Given the description of an element on the screen output the (x, y) to click on. 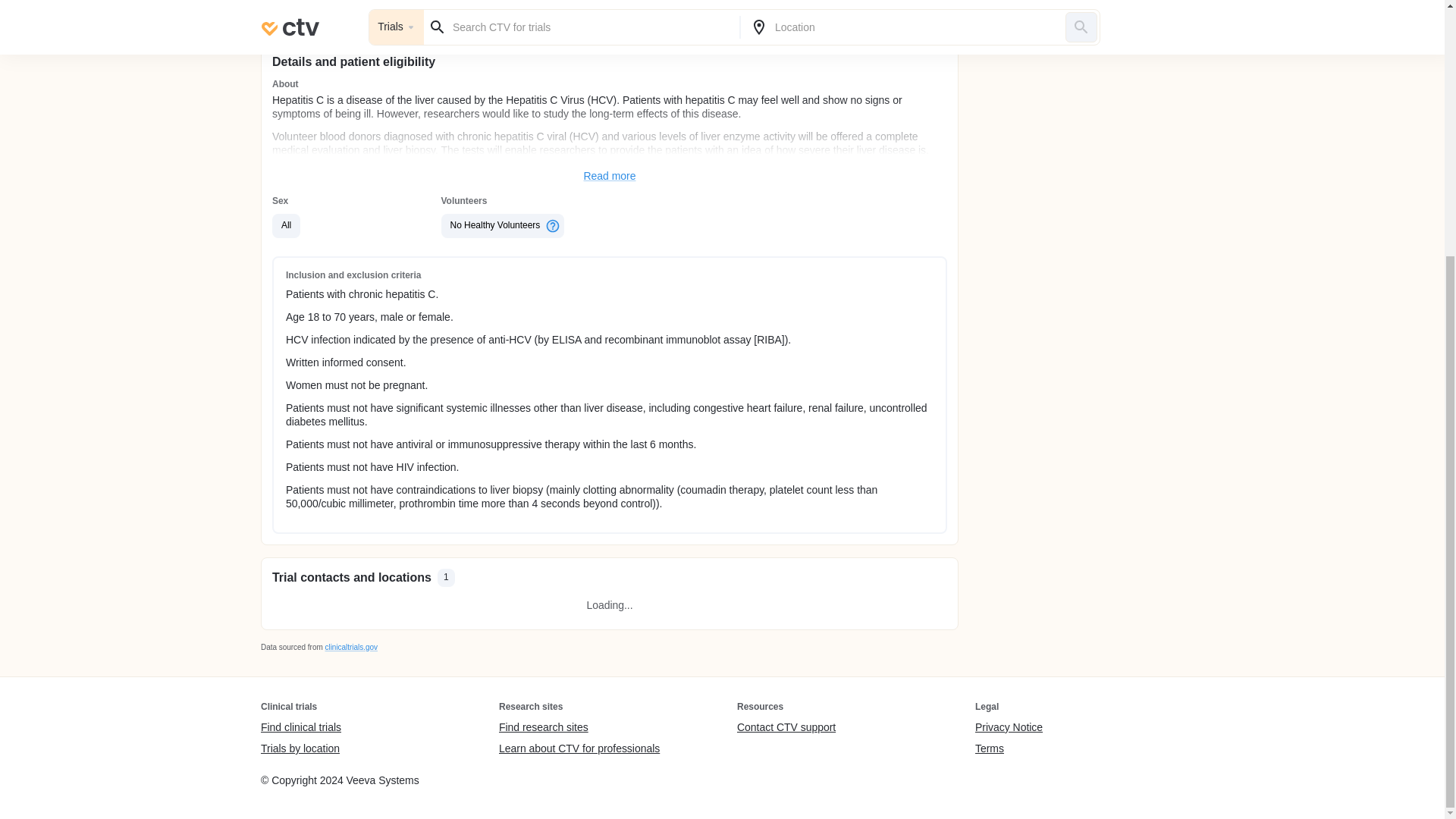
clinicaltrials.gov (350, 646)
Terms (1008, 748)
Contact CTV support (785, 727)
Find research sites (579, 727)
Take notes (438, 9)
Find clinical trials (300, 727)
Privacy Notice (1008, 727)
View location (780, 9)
Learn about CTV for professionals (579, 748)
Read more (609, 176)
